Given the description of an element on the screen output the (x, y) to click on. 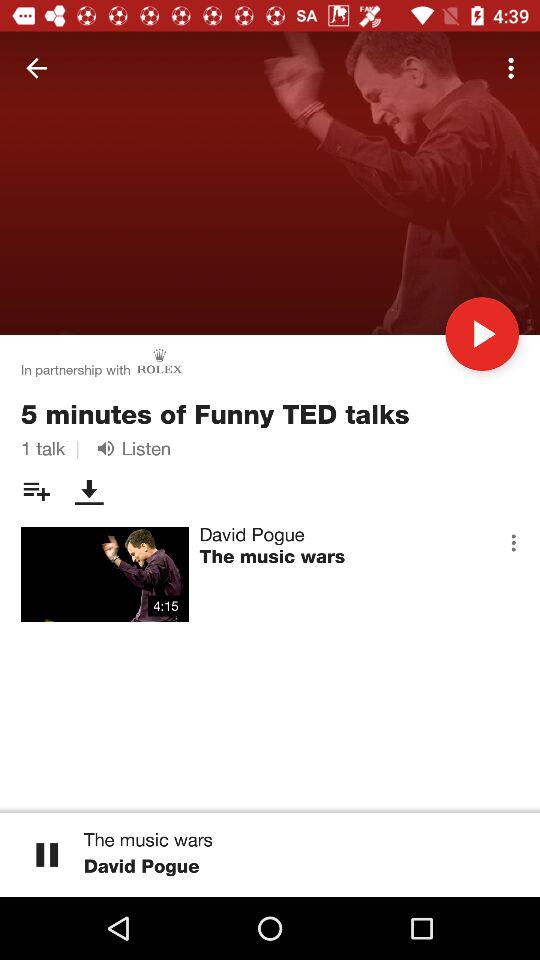
tap the icon at the top left corner (36, 68)
